Given the description of an element on the screen output the (x, y) to click on. 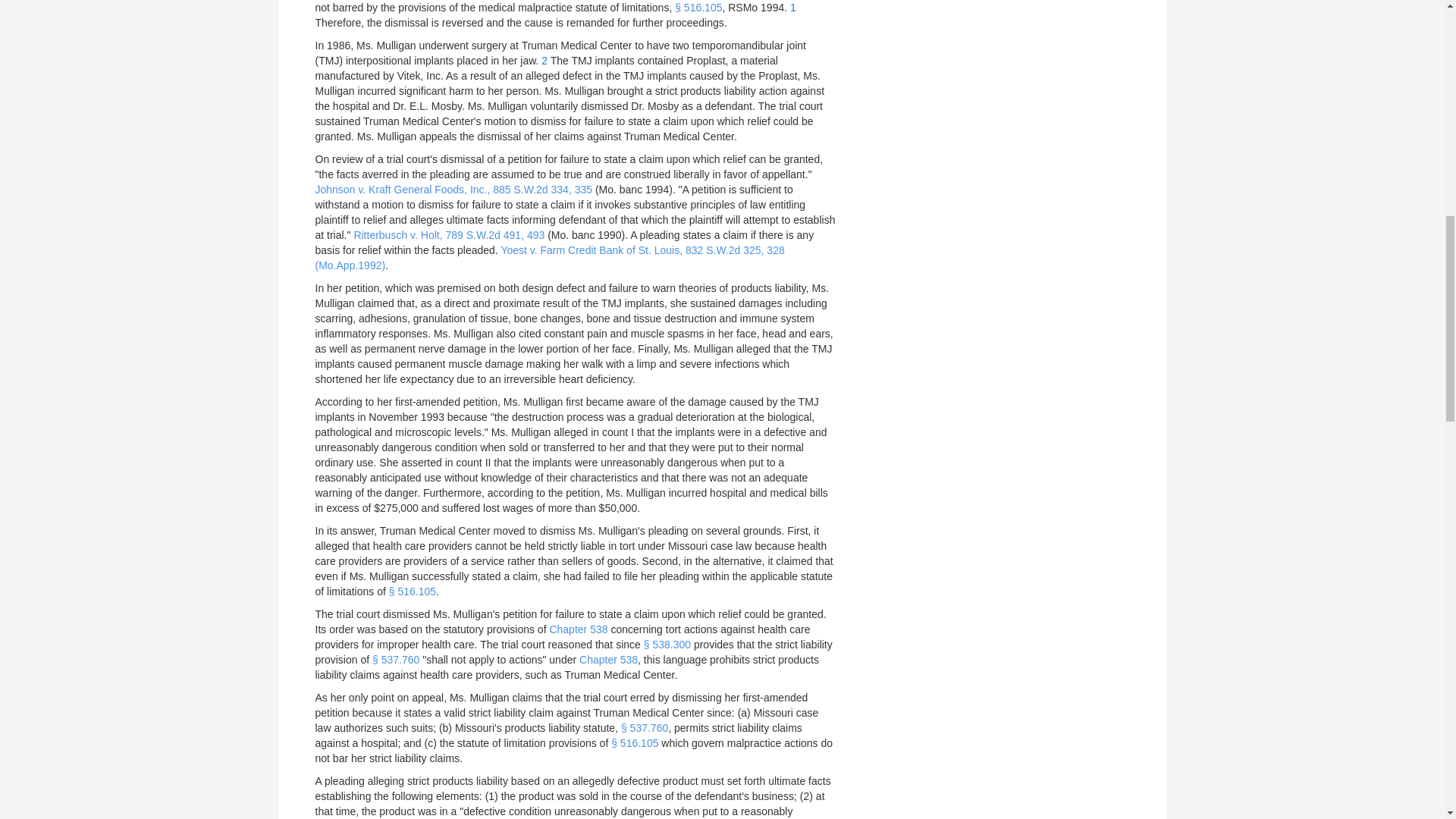
Chapter 538 (608, 659)
Chapter 538 (577, 629)
Johnson v. Kraft General Foods, Inc., 885 S.W.2d 334, 335 (453, 189)
Ritterbusch v. Holt, 789 S.W.2d 491, 493 (448, 234)
